Given the description of an element on the screen output the (x, y) to click on. 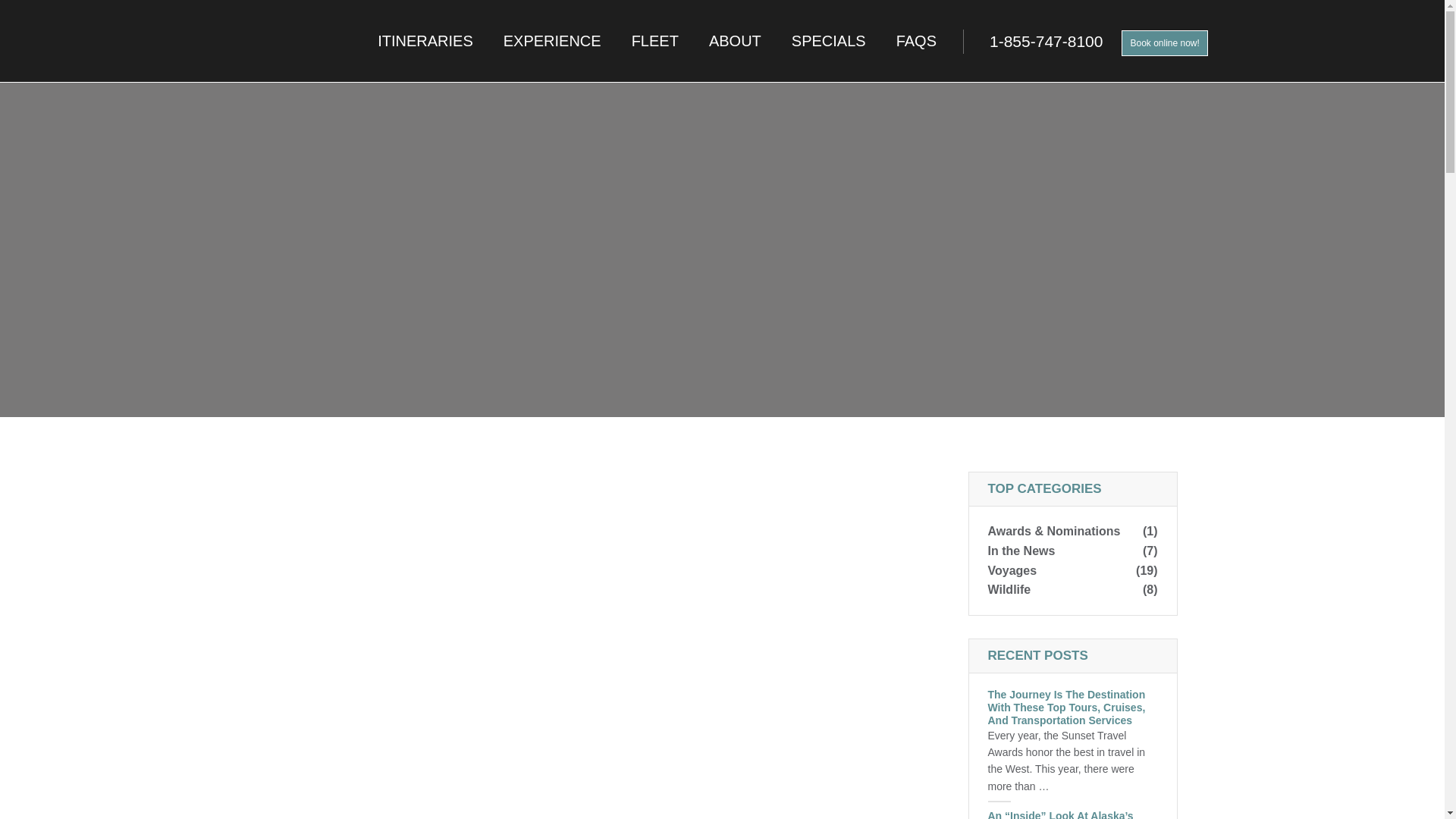
ITINERARIES (424, 41)
FLEET (654, 41)
Alaskan Dream Cruises (120, 41)
EXPERIENCE (551, 41)
ABOUT (735, 41)
